Given the description of an element on the screen output the (x, y) to click on. 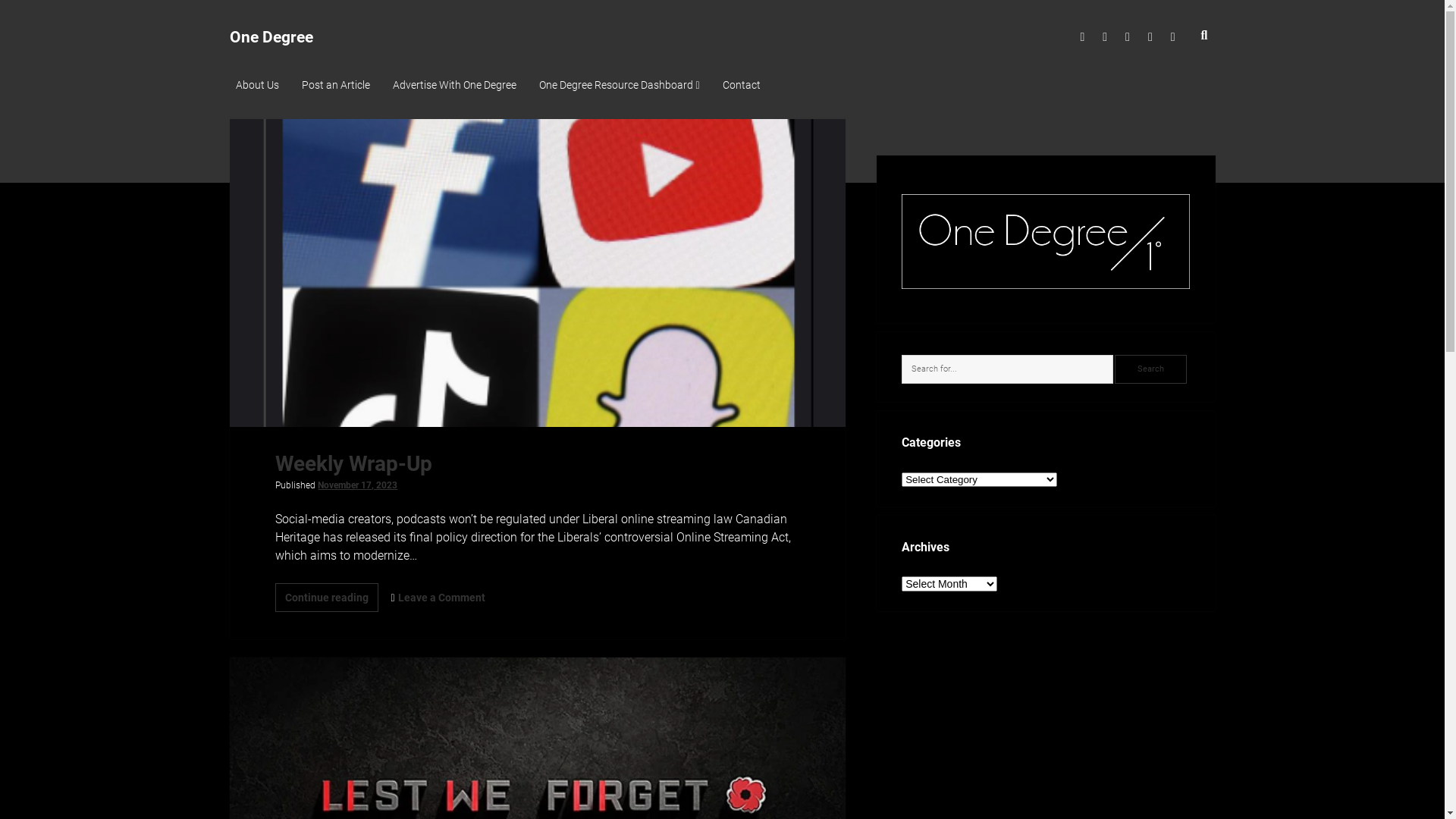
Weekly Wrap-Up Element type: text (353, 463)
linkedin Element type: text (1150, 37)
twitter Element type: hover (1081, 37)
instagram Element type: hover (1127, 37)
Advertise With One Degree Element type: text (454, 85)
Search for: Element type: hover (1007, 368)
November 17, 2023 Element type: text (357, 485)
One Degree Element type: text (270, 37)
One Degree Resource Dashboard Element type: text (618, 85)
youtube Element type: text (1172, 37)
Leave a Comment Element type: text (441, 597)
Search Element type: text (1150, 368)
facebook Element type: text (1104, 37)
About Us Element type: text (256, 85)
Post an Article Element type: text (335, 85)
twitter Element type: text (1081, 37)
comment icon Element type: hover (392, 598)
Contact Element type: text (741, 85)
facebook Element type: hover (1104, 37)
youtube Element type: hover (1172, 37)
Weekly Wrap-Up Element type: text (537, 272)
Continue reading
Weekly Wrap-Up Element type: text (326, 597)
instagram Element type: text (1127, 37)
linkedin Element type: hover (1150, 37)
